Given the description of an element on the screen output the (x, y) to click on. 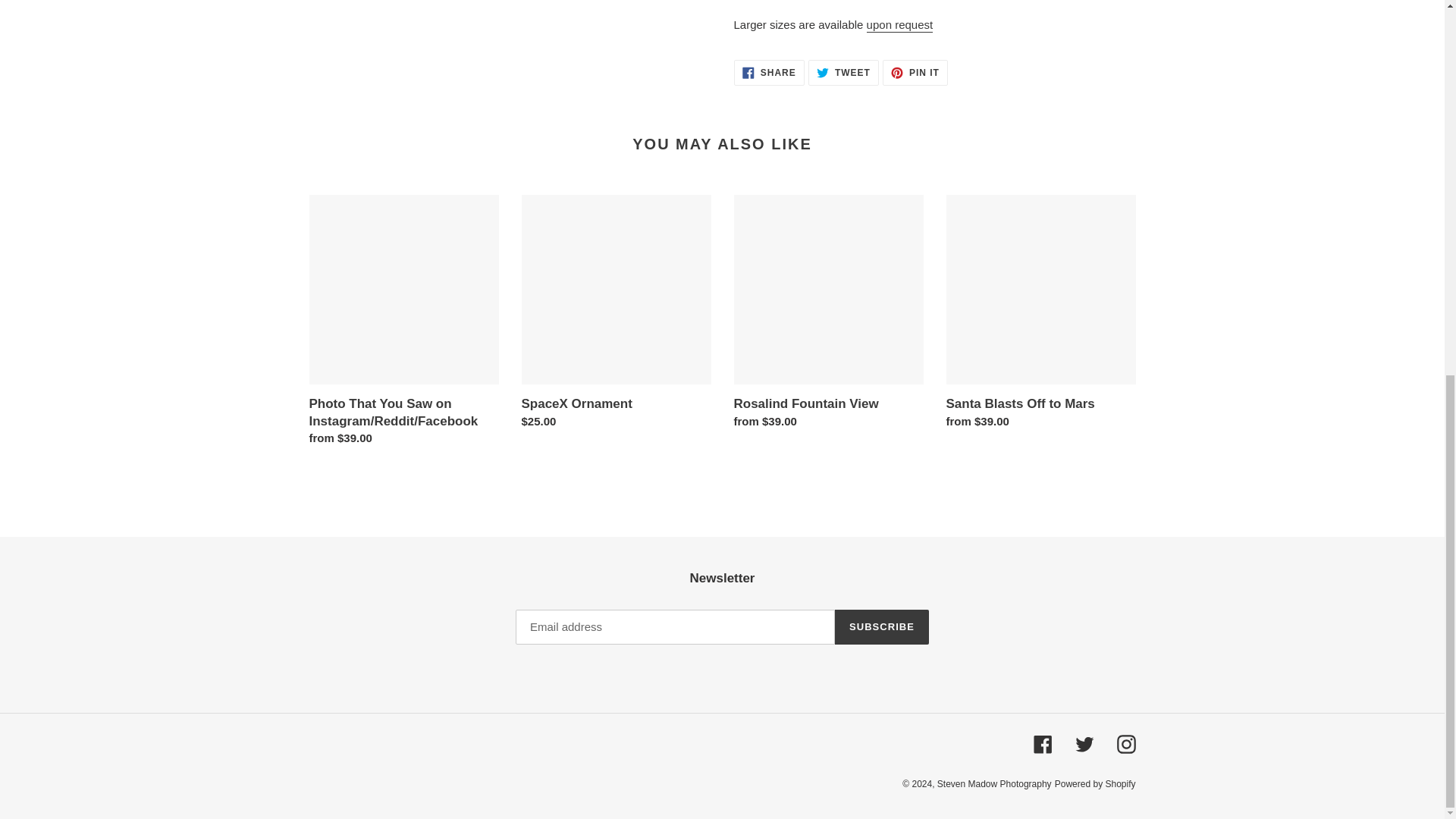
Facebook (843, 72)
upon request (769, 72)
SUBSCRIBE (1041, 743)
